Given the description of an element on the screen output the (x, y) to click on. 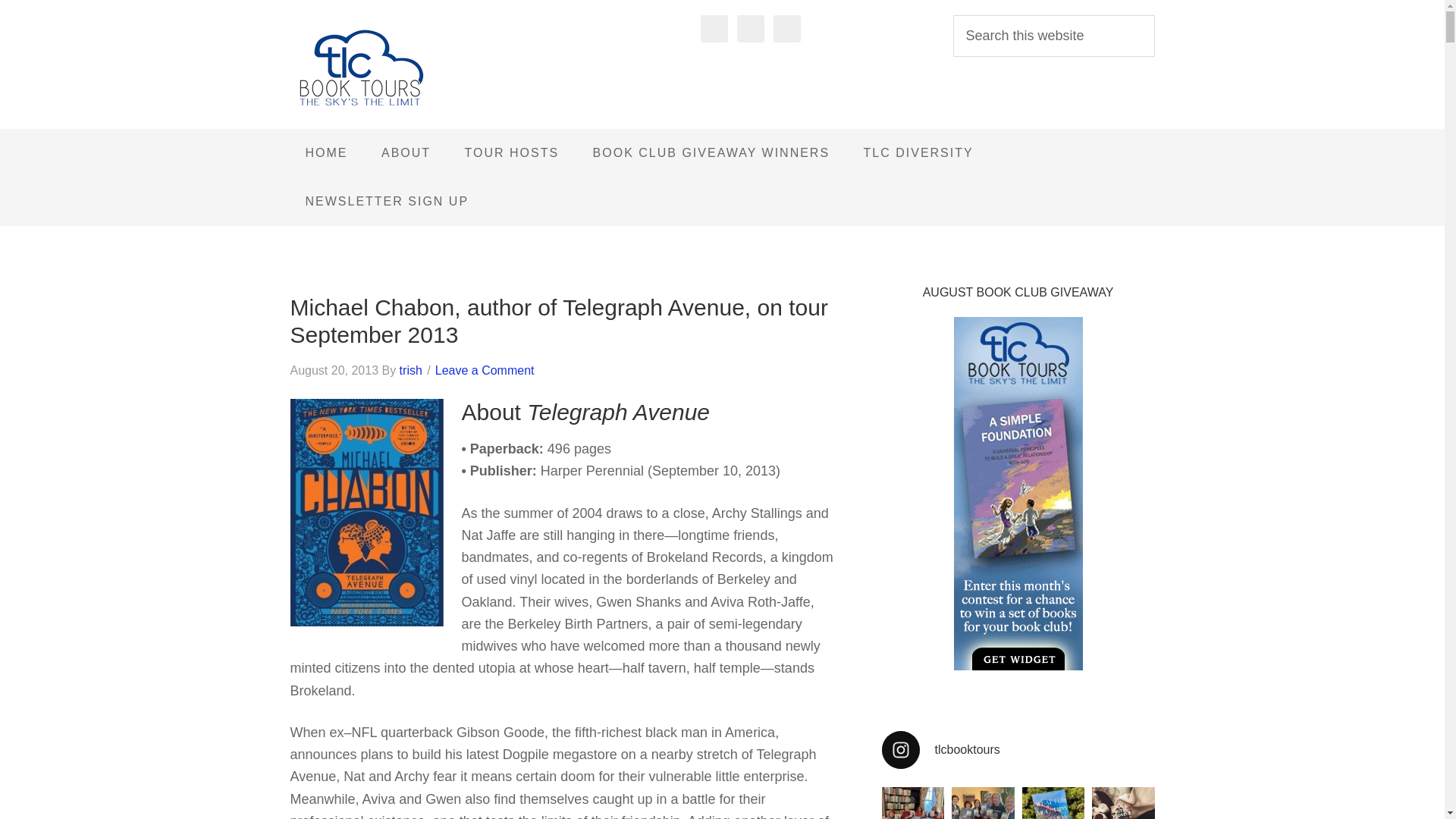
TLC DIVERSITY (918, 152)
Leave a Comment (484, 369)
NEWSLETTER SIGN UP (386, 201)
TOUR HOSTS (512, 152)
ABOUT (405, 152)
trish (410, 369)
BOOK CLUB GIVEAWAY WINNERS (711, 152)
TLC Book Tours (410, 67)
